Given the description of an element on the screen output the (x, y) to click on. 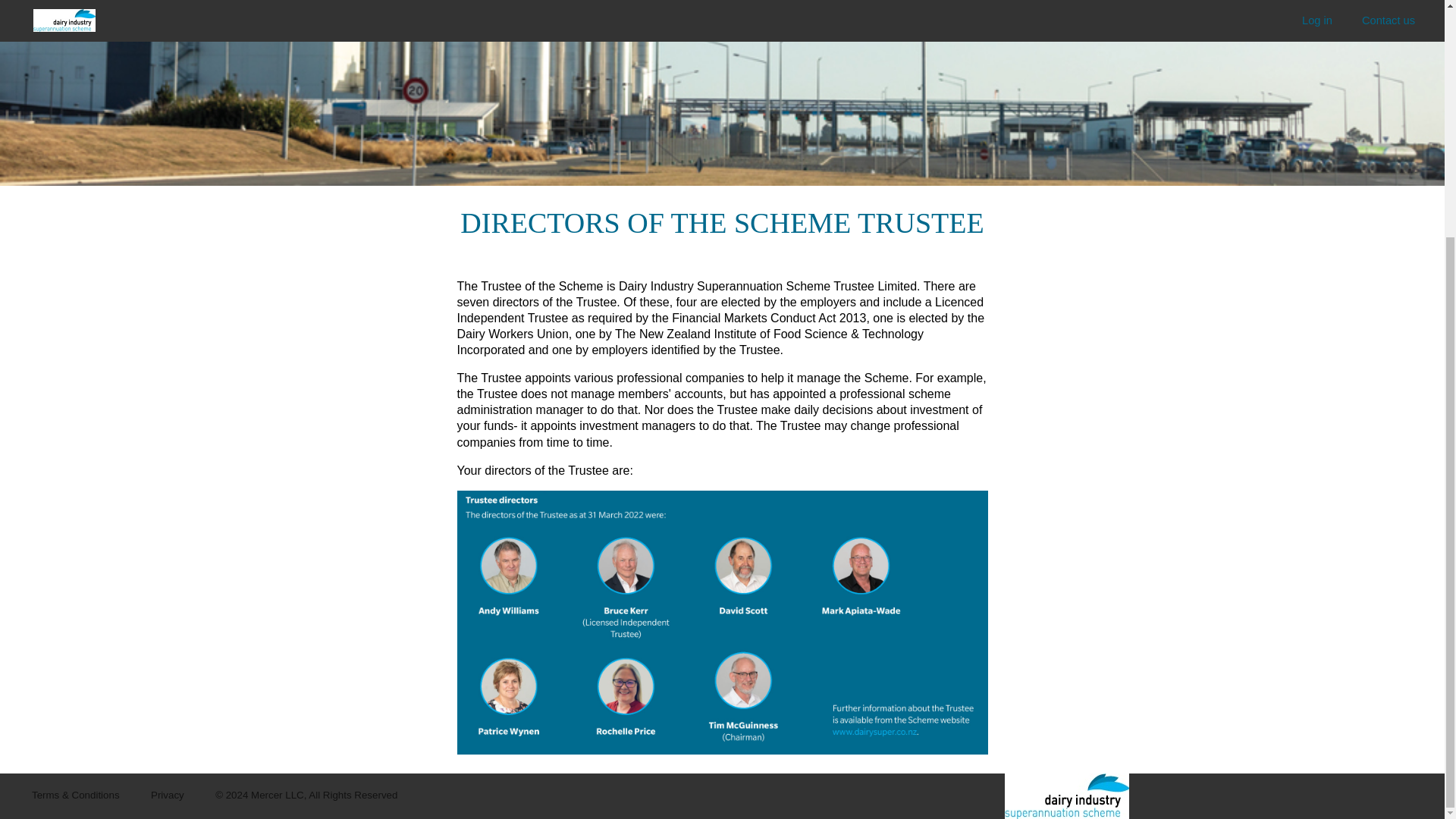
Privacy (167, 794)
